Given the description of an element on the screen output the (x, y) to click on. 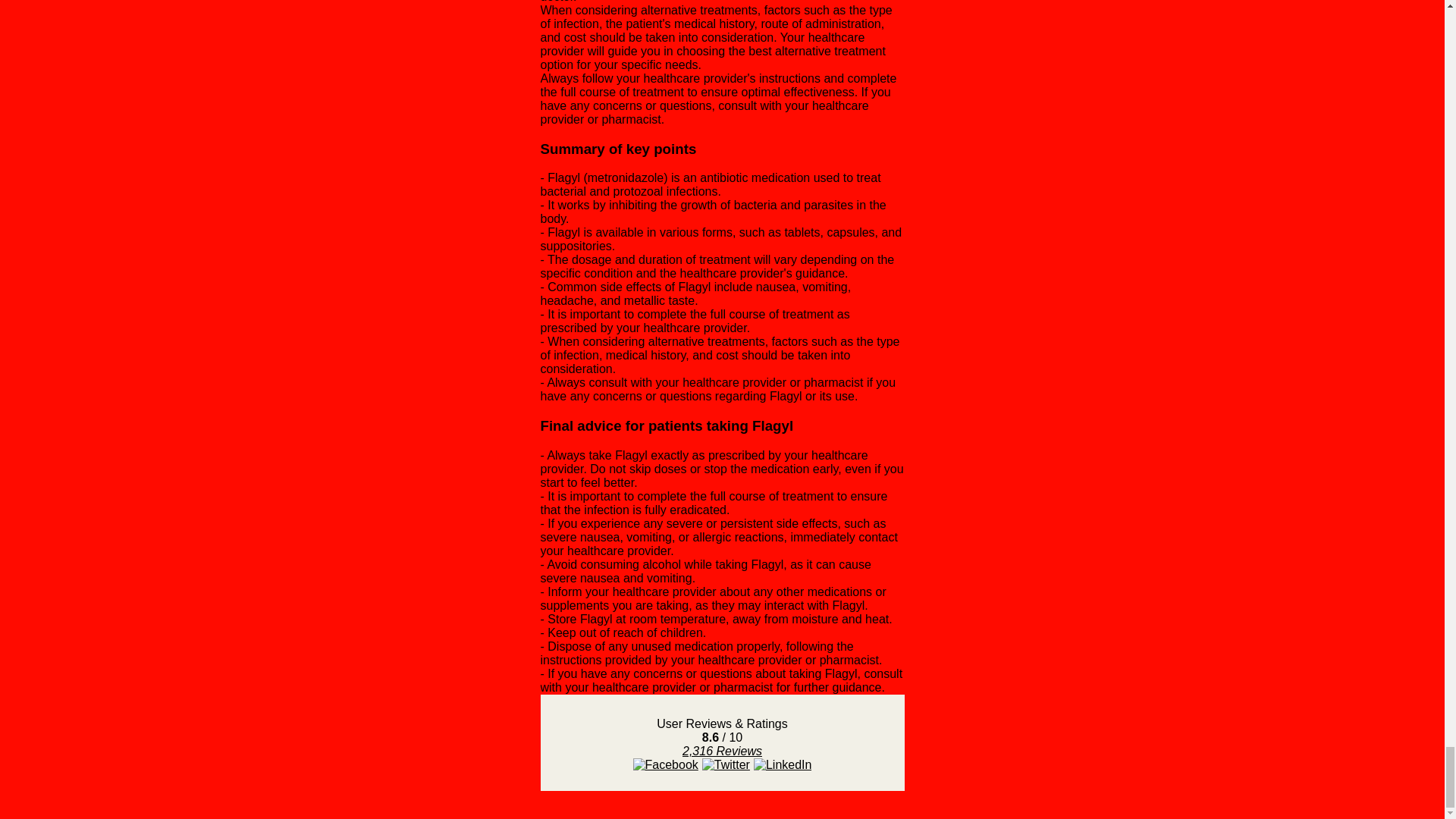
Facebook (665, 765)
Twitter (725, 765)
LinkedIn (783, 765)
2,316 Reviews (721, 750)
